Given the description of an element on the screen output the (x, y) to click on. 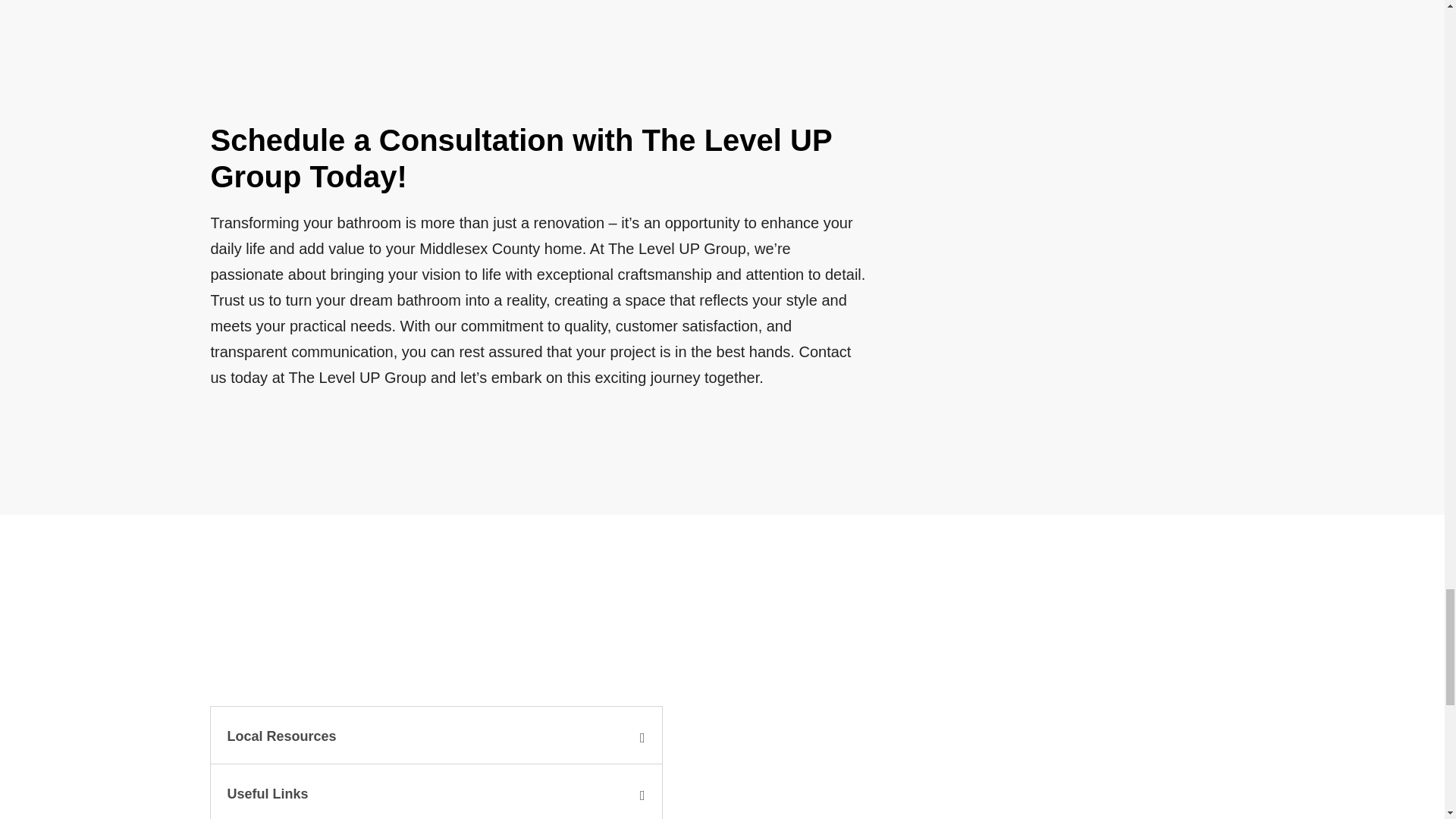
Useful Links (267, 793)
Local Resources (281, 735)
